Given the description of an element on the screen output the (x, y) to click on. 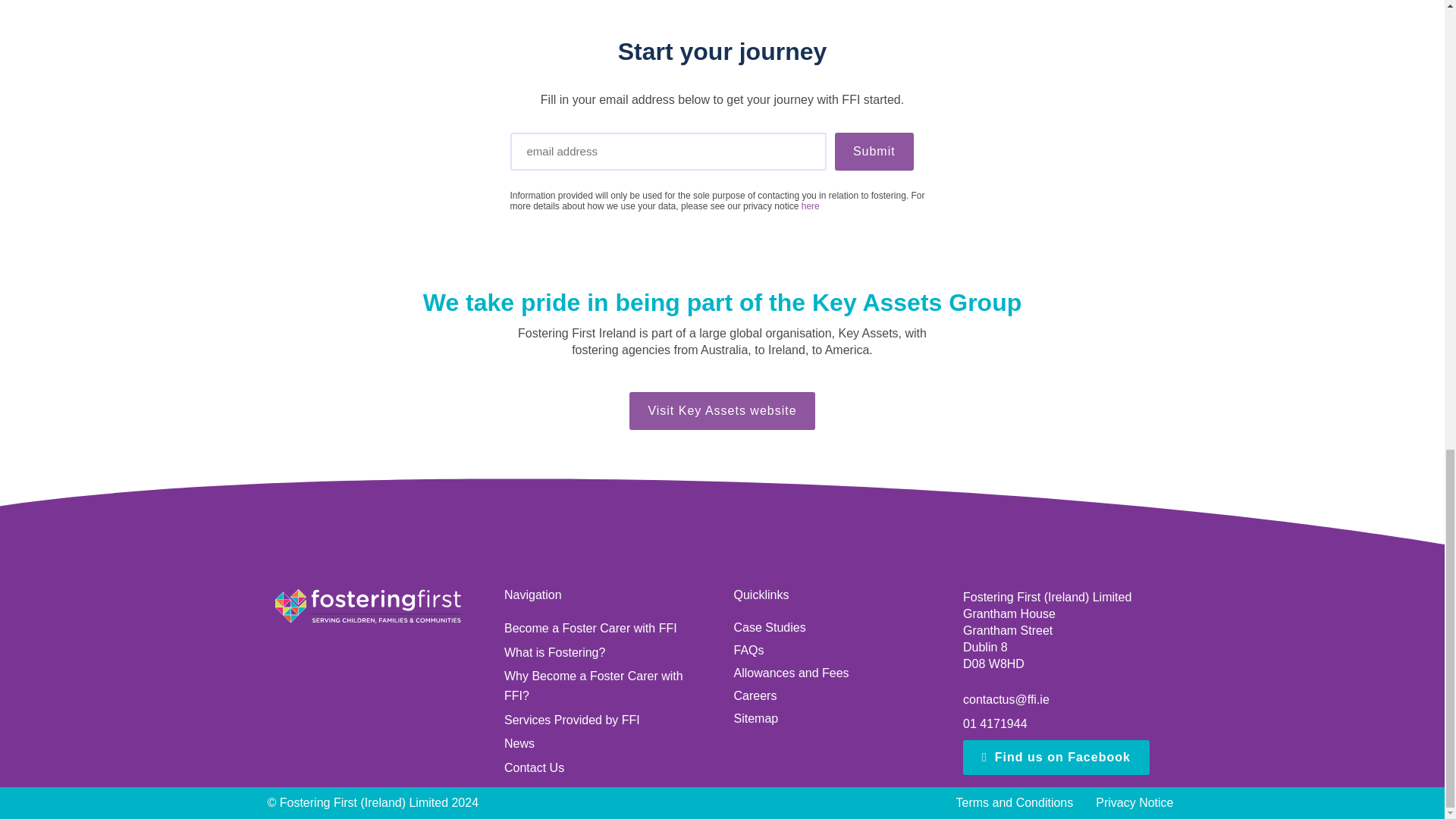
Submit (874, 151)
